Given the description of an element on the screen output the (x, y) to click on. 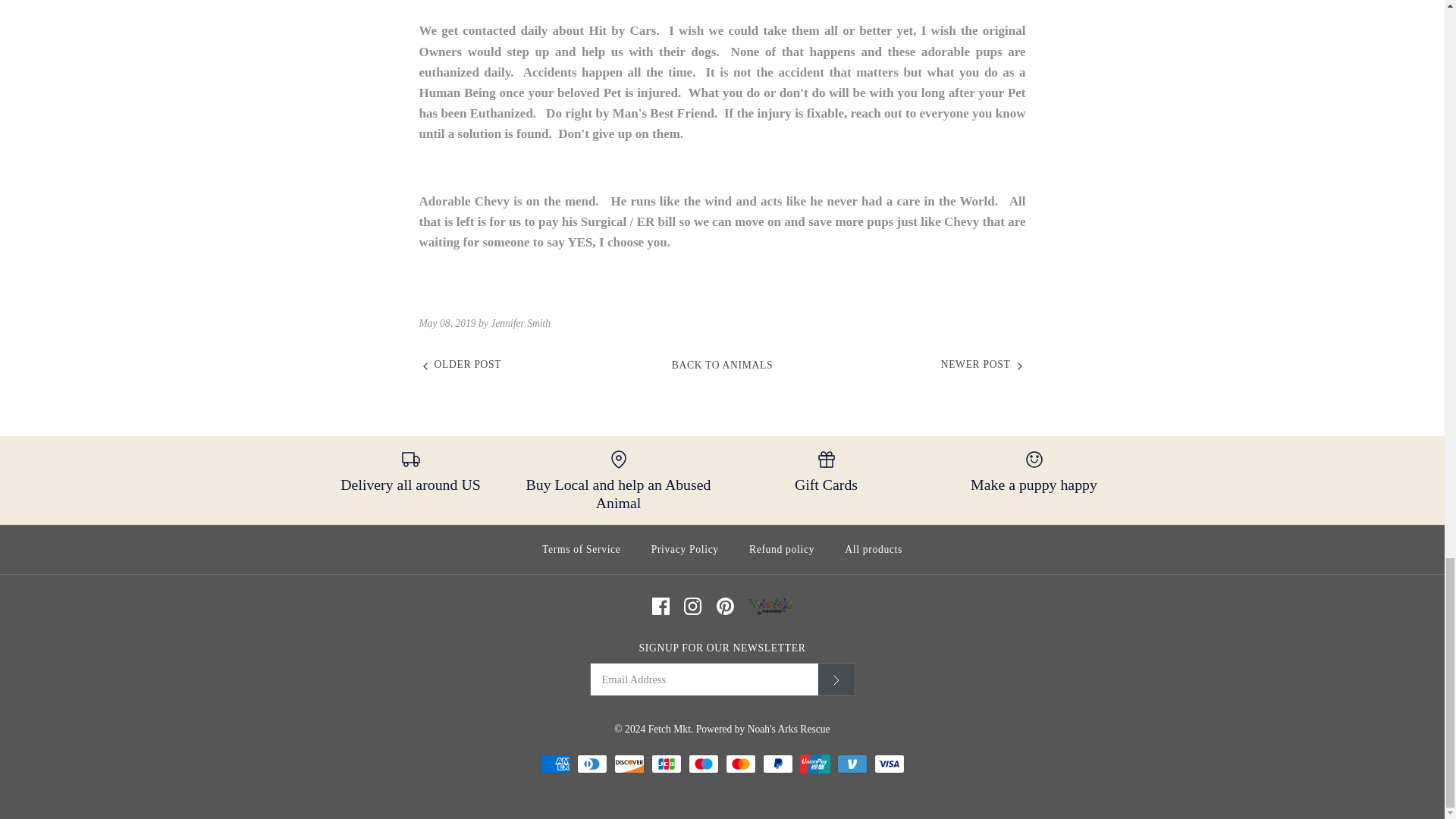
Instagram (692, 606)
Facebook (660, 606)
Pinterest (724, 606)
